Given the description of an element on the screen output the (x, y) to click on. 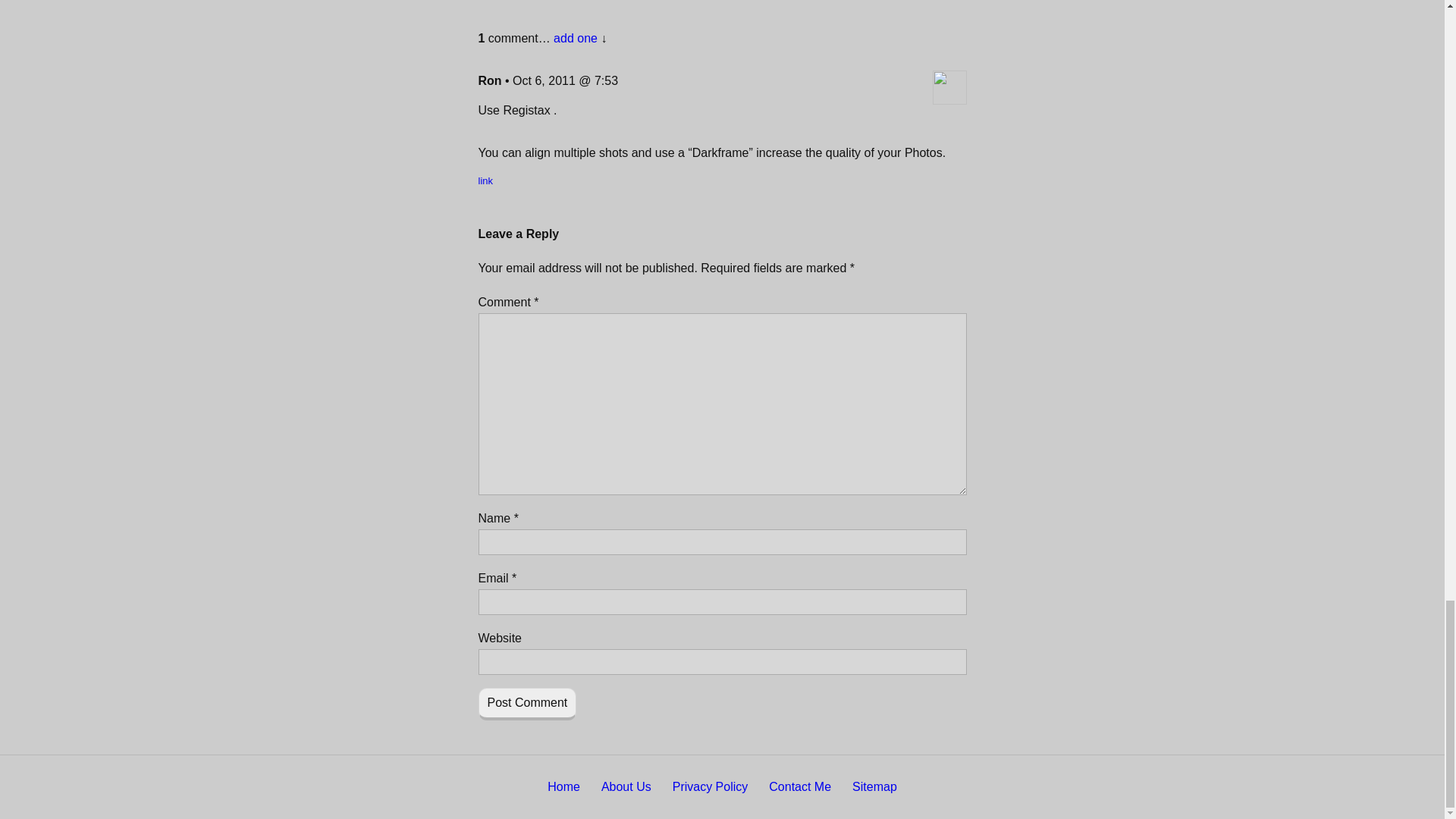
Sitemap (873, 786)
About Us (625, 786)
Contact Me (799, 786)
link (485, 180)
Post Comment (526, 703)
add one (574, 38)
permalink to this comment (485, 180)
Privacy Policy (710, 786)
Post Comment (526, 703)
